Given the description of an element on the screen output the (x, y) to click on. 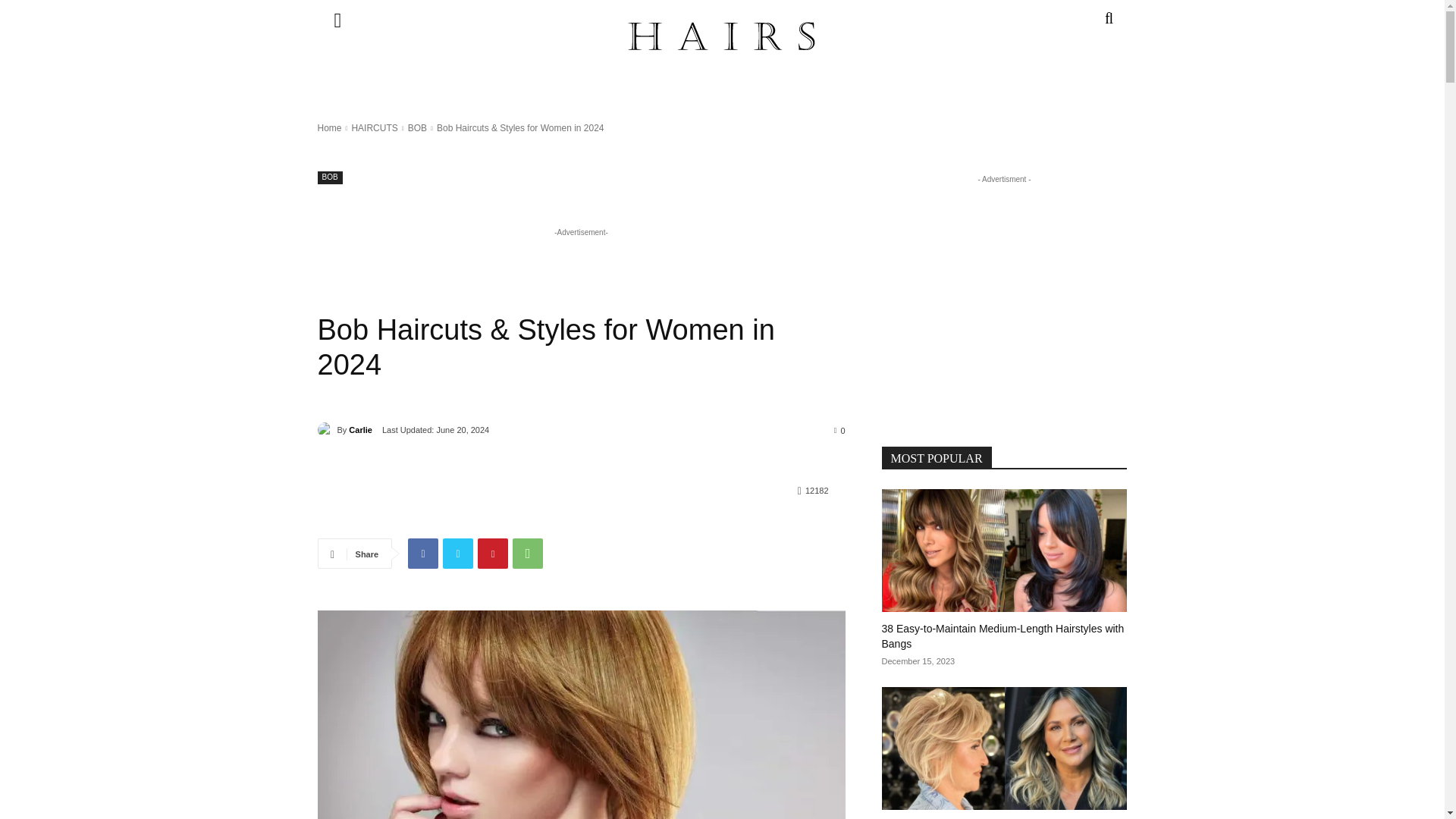
View all posts in HAIRCUTS (373, 127)
Facebook (422, 553)
Twitter (457, 553)
Advertisement (593, 274)
View all posts in BOB (416, 127)
WhatsApp (527, 553)
Pinterest (492, 553)
Carlie (326, 429)
